Given the description of an element on the screen output the (x, y) to click on. 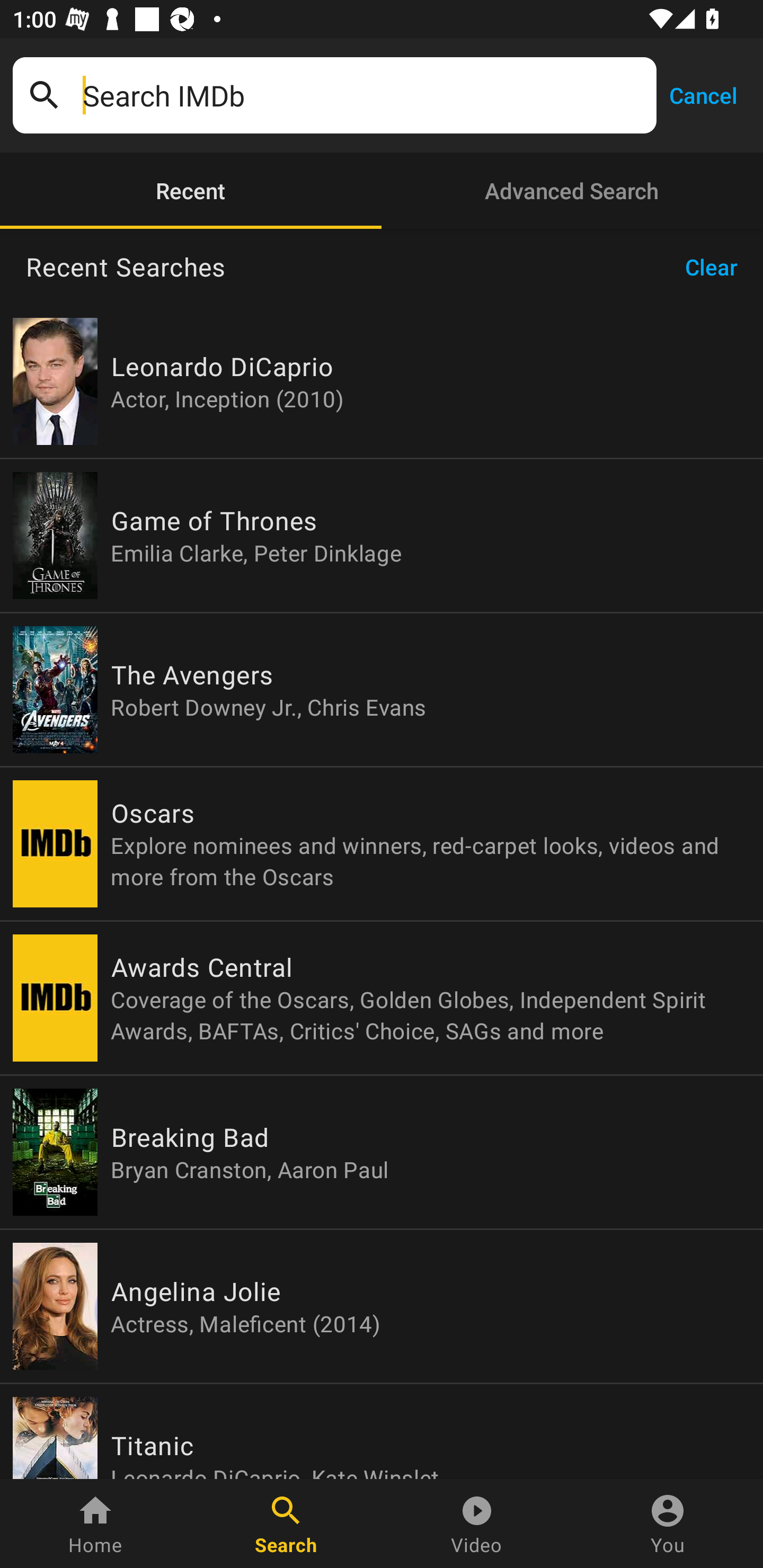
Cancel (703, 94)
Search IMDb (363, 95)
Advanced Search (572, 190)
Clear (717, 266)
Leonardo DiCaprio Actor, Inception (2010) (381, 381)
Game of Thrones Emilia Clarke, Peter Dinklage (381, 535)
The Avengers Robert Downey Jr., Chris Evans (381, 689)
Breaking Bad Bryan Cranston, Aaron Paul (381, 1151)
Angelina Jolie Actress, Maleficent (2014) (381, 1305)
Titanic Leonardo DiCaprio, Kate Winslet (381, 1431)
Home (95, 1523)
Video (476, 1523)
You (667, 1523)
